Given the description of an element on the screen output the (x, y) to click on. 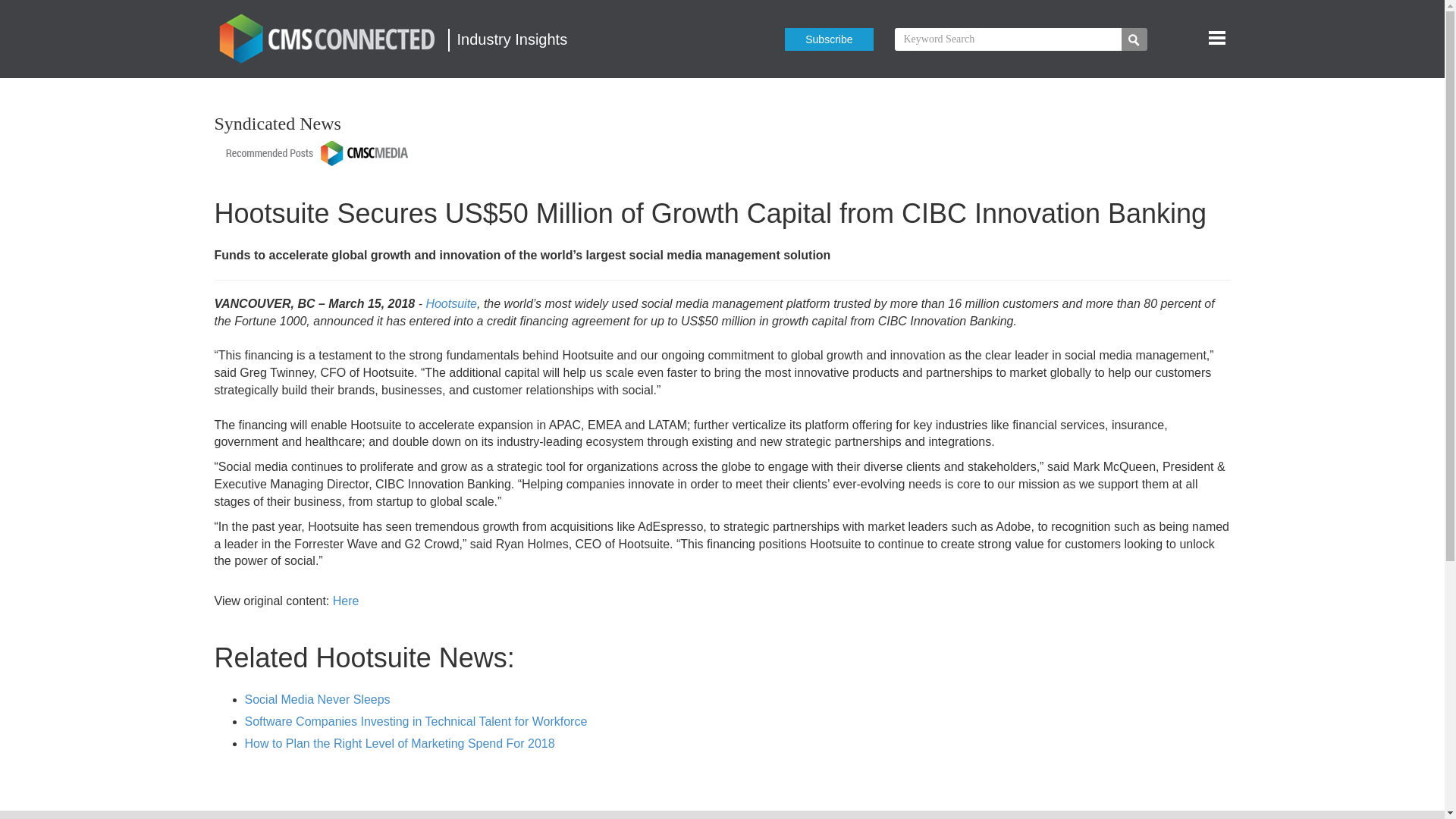
Hootsuite (451, 303)
Subscribe (828, 38)
Here (346, 600)
Search (1134, 38)
How to Plan the Right Level of Marketing Spend For 2018 (399, 743)
Search (1134, 38)
Social Media Never Sleeps (317, 698)
